Given the description of an element on the screen output the (x, y) to click on. 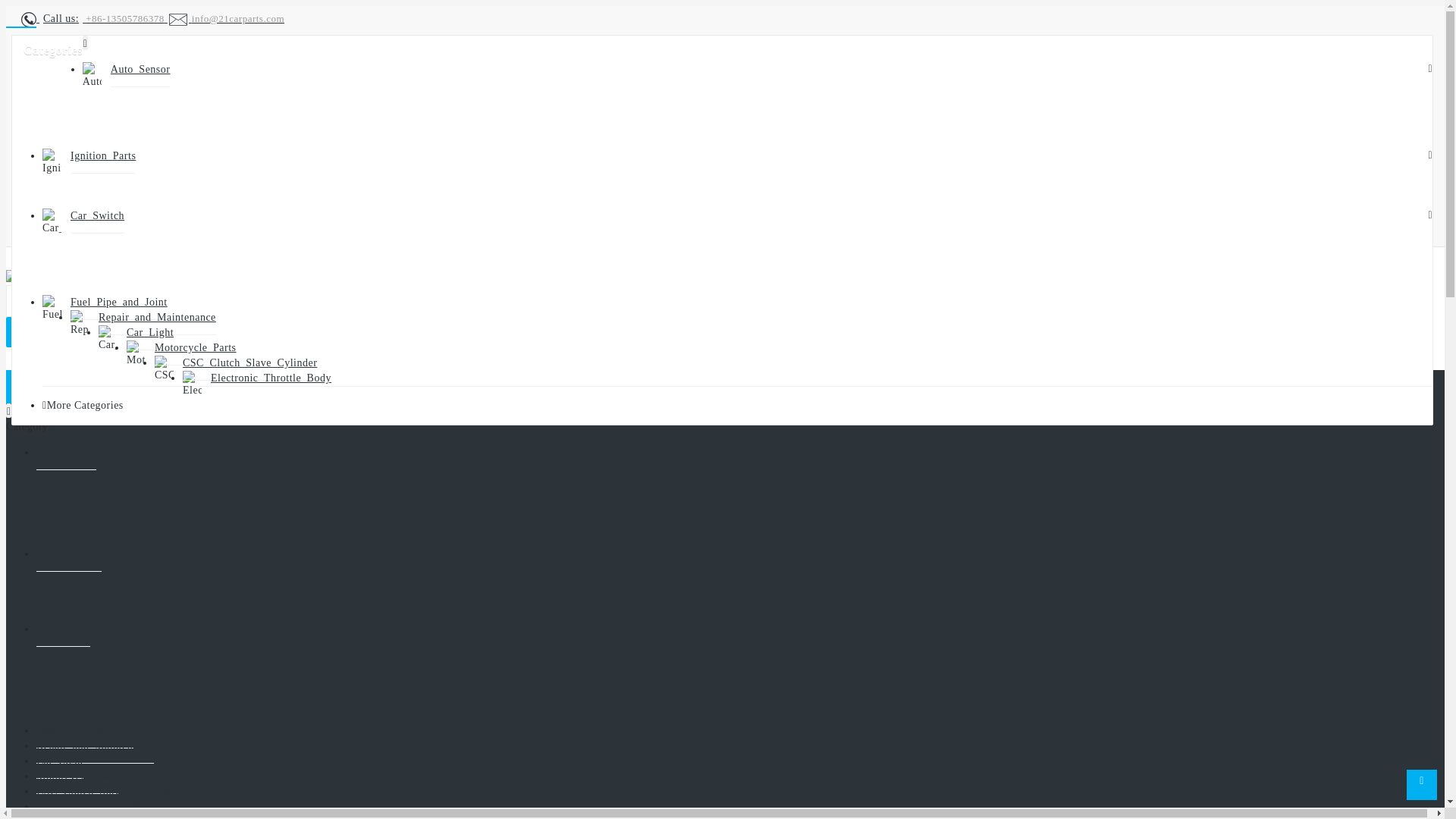
Motorcycle_Parts Element type: text (77, 776)
Ignition_Parts Element type: text (102, 155)
Fuel_Pipe_And_Joint Element type: text (118, 302)
Fuel_Pipe_And_Joint Element type: text (84, 730)
$ US Dollar Element type: text (113, 141)
info@21carparts.com Element type: text (225, 18)
CATEGORIES Element type: text (66, 386)
My Account  Element type: text (84, 176)
Car_Switch Element type: text (63, 628)
Login Element type: text (105, 213)
Scroll to Top Element type: hover (1421, 784)
Auto_Sensor Element type: text (140, 69)
Call us: +86-13505786378 Element type: text (94, 18)
Car_Light Element type: text (149, 332)
CSC_Clutch_Slave_Cylinder Element type: text (249, 362)
$ Currency  Element type: text (77, 46)
Car_Light Element type: text (59, 760)
21carparts.com Element type: hover (47, 277)
Register Element type: text (110, 194)
Car_Switch Element type: text (97, 215)
More Categories Element type: text (85, 405)
CSC_Clutch_Slave_Cylinder Element type: text (103, 791)
Repair_And_Maintenance Element type: text (94, 745)
Ignition_Parts Element type: text (68, 553)
Repair_And_Maintenance Element type: text (157, 317)
Electronic_Throttle_Body Element type: text (270, 377)
0 item(s) - $0.00 Element type: text (61, 332)
Wish List (0) Element type: text (120, 232)
Auto_Sensor Element type: text (66, 452)
Motorcycle_Parts Element type: text (195, 347)
